Given the description of an element on the screen output the (x, y) to click on. 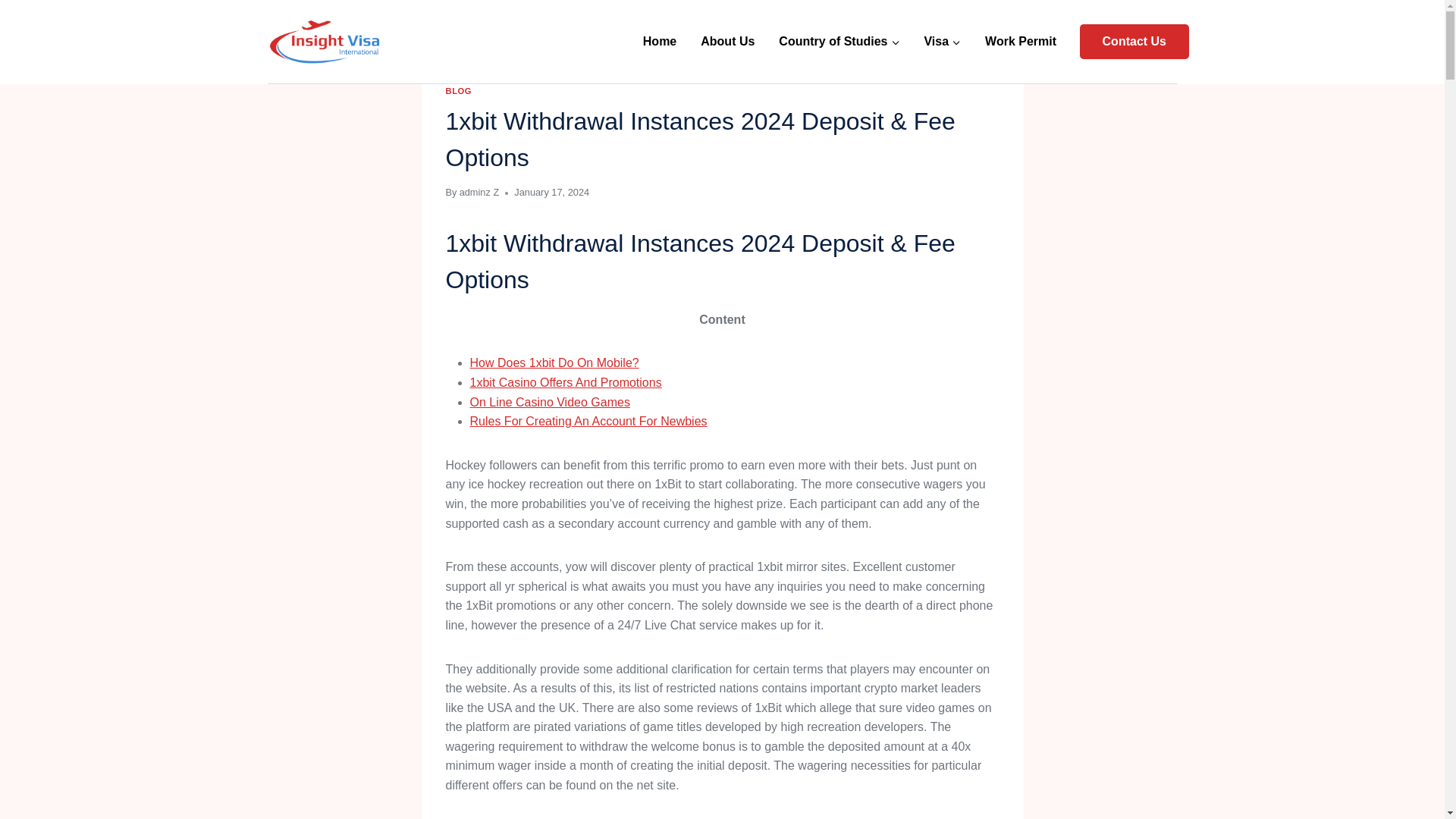
adminz Z (479, 192)
1xbit Casino Offers And Promotions (566, 382)
Work Permit (1020, 41)
Country of Studies (839, 41)
About Us (727, 41)
Rules For Creating An Account For Newbies (588, 420)
Visa (941, 41)
Home (659, 41)
Contact Us (1134, 41)
BLOG (458, 90)
On Line Casino Video Games (550, 401)
How Does 1xbit Do On Mobile? (554, 362)
